Given the description of an element on the screen output the (x, y) to click on. 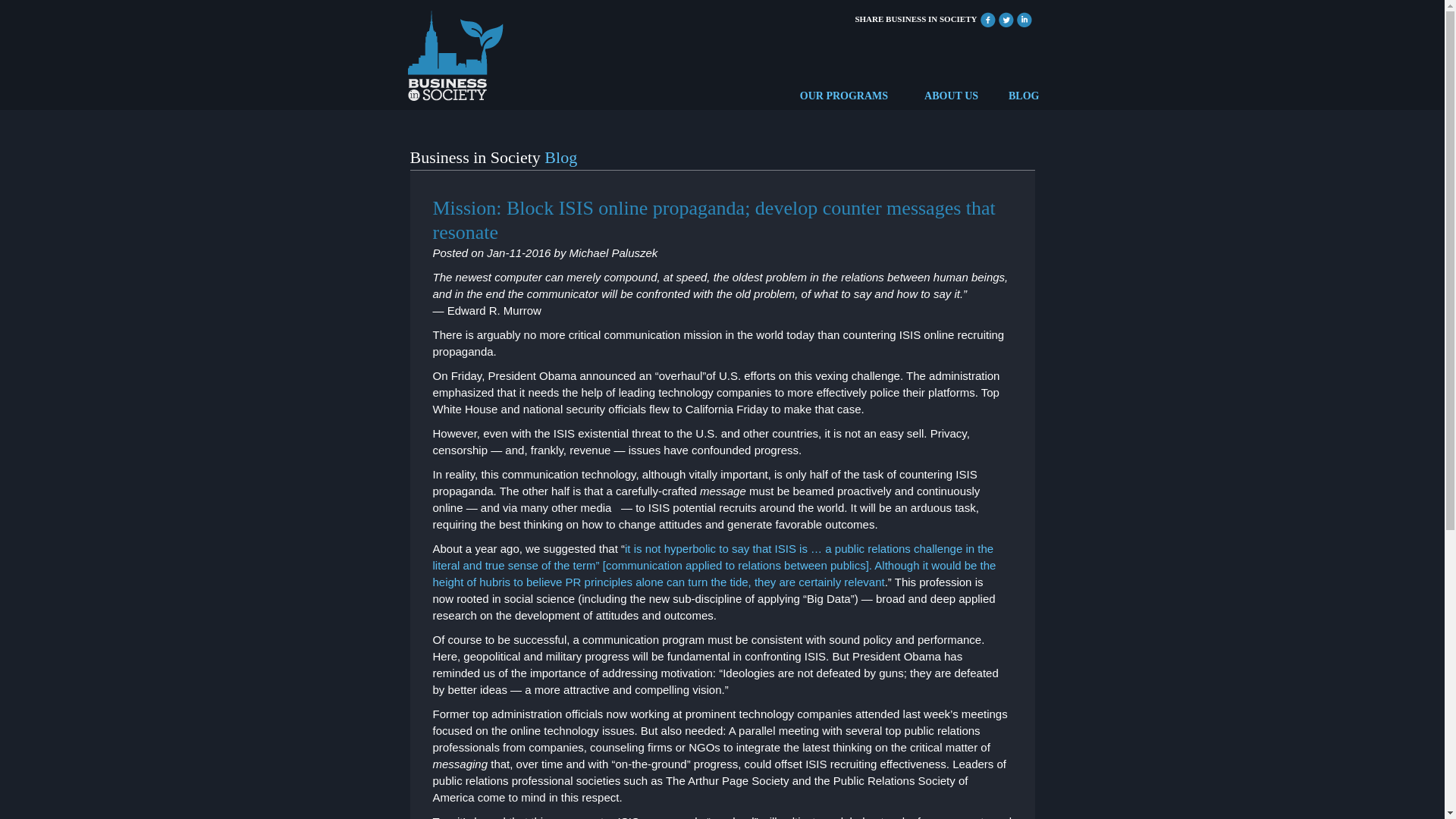
BLOG (1024, 96)
OUR PROGRAMS (843, 96)
ABOUT US (951, 96)
Share On Twitter (1005, 17)
Facebook (986, 17)
Share On LinkedIn (1023, 17)
Business In Society Home (453, 52)
